Given the description of an element on the screen output the (x, y) to click on. 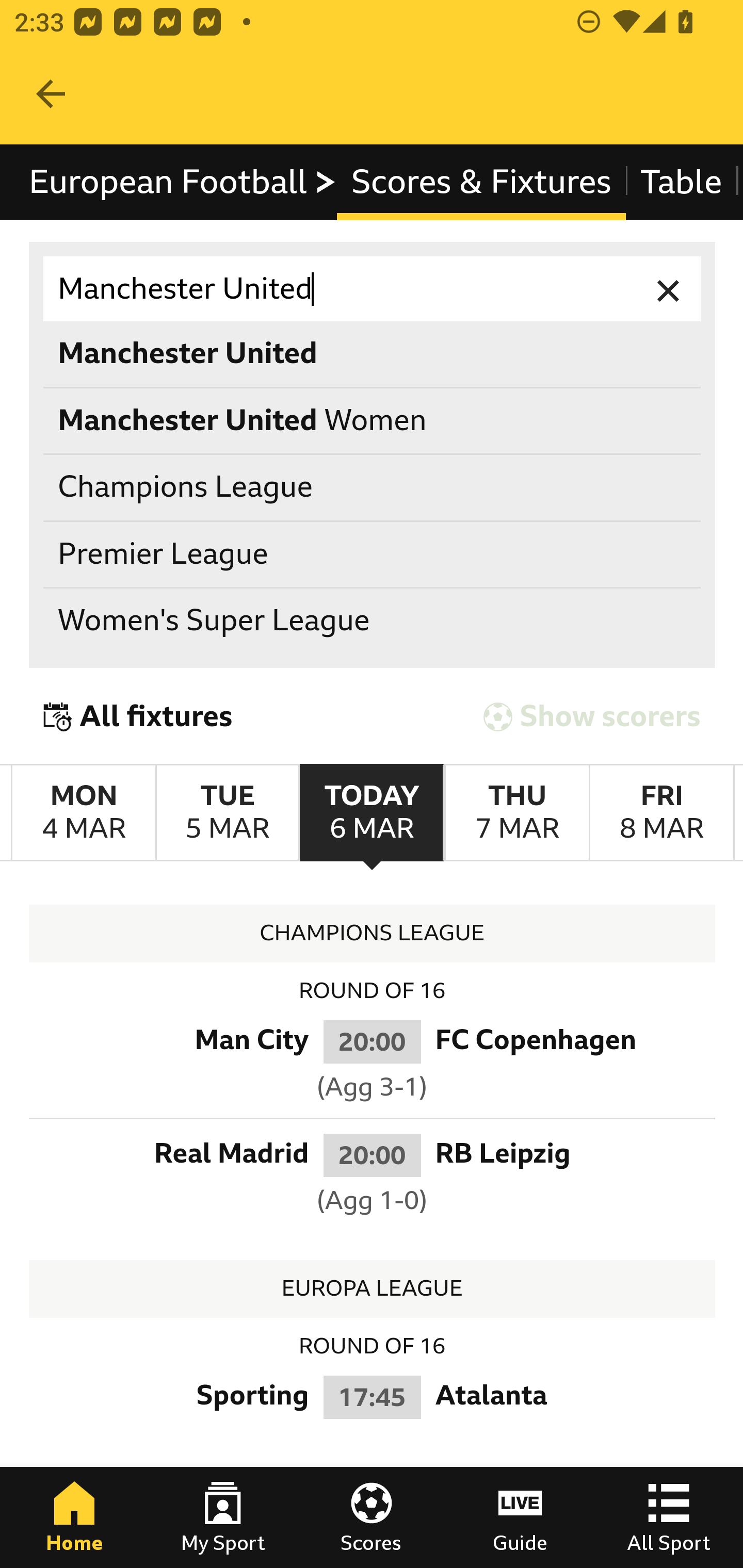
Navigate up (50, 93)
European Football  (182, 181)
Scores & Fixtures (480, 181)
Table (681, 181)
Manchester United (372, 289)
Clear input (669, 289)
Manchester United Women Manchester United  Women (372, 419)
Champions League (372, 488)
Premier League (372, 554)
Women's Super League (372, 620)
All fixtures (137, 716)
Show scorers (591, 716)
MondayMarch 4th Monday March 4th (83, 812)
TuesdayMarch 5th Tuesday March 5th (227, 812)
ThursdayMarch 7th Thursday March 7th (516, 812)
FridayMarch 8th Friday March 8th (661, 812)
My Sport (222, 1517)
Scores (371, 1517)
Guide (519, 1517)
All Sport (668, 1517)
